Given the description of an element on the screen output the (x, y) to click on. 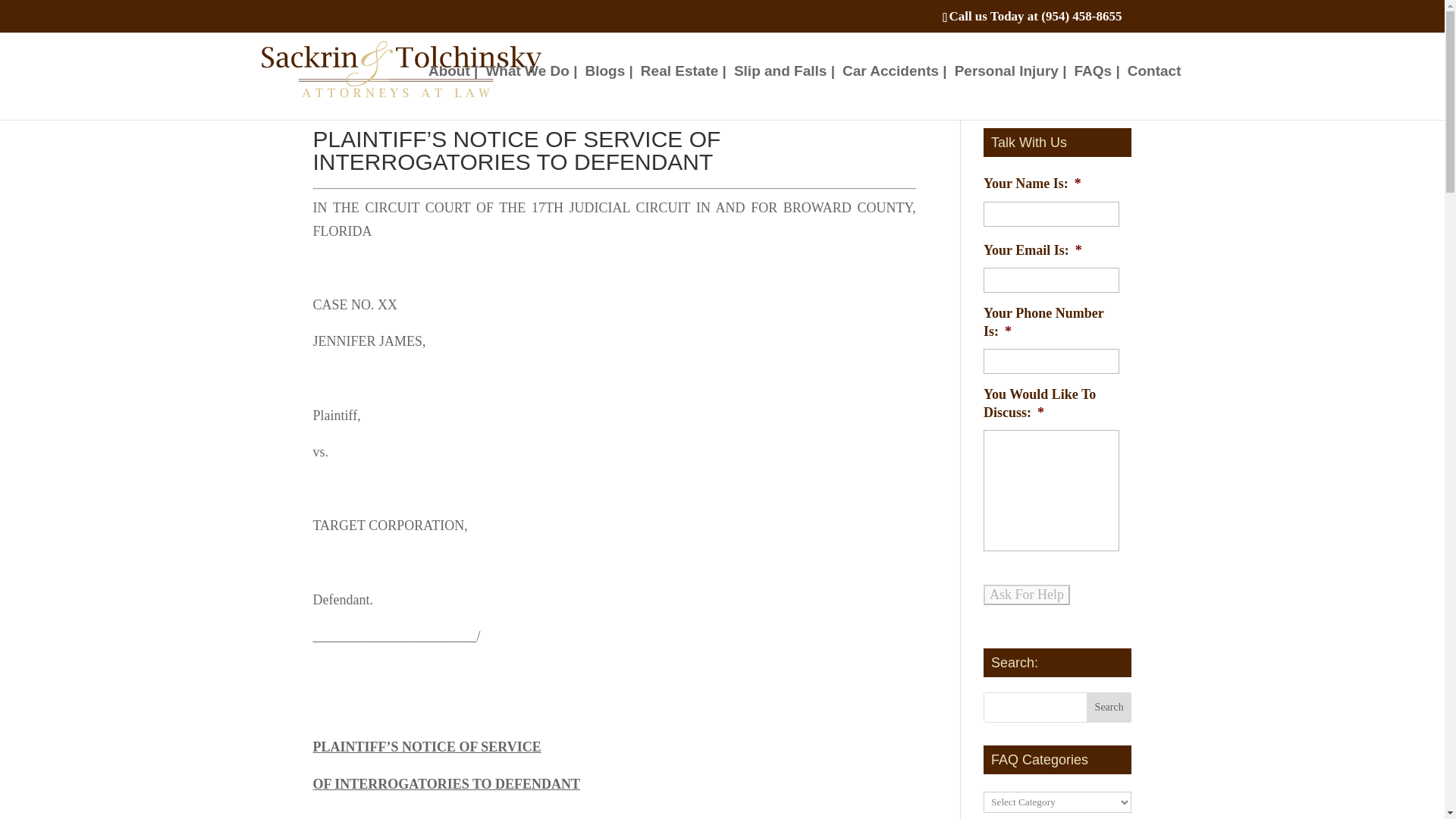
Ask For Help (1027, 594)
Contact (1153, 92)
Ask For Help (1027, 594)
Search (1109, 707)
Search (1109, 707)
